Given the description of an element on the screen output the (x, y) to click on. 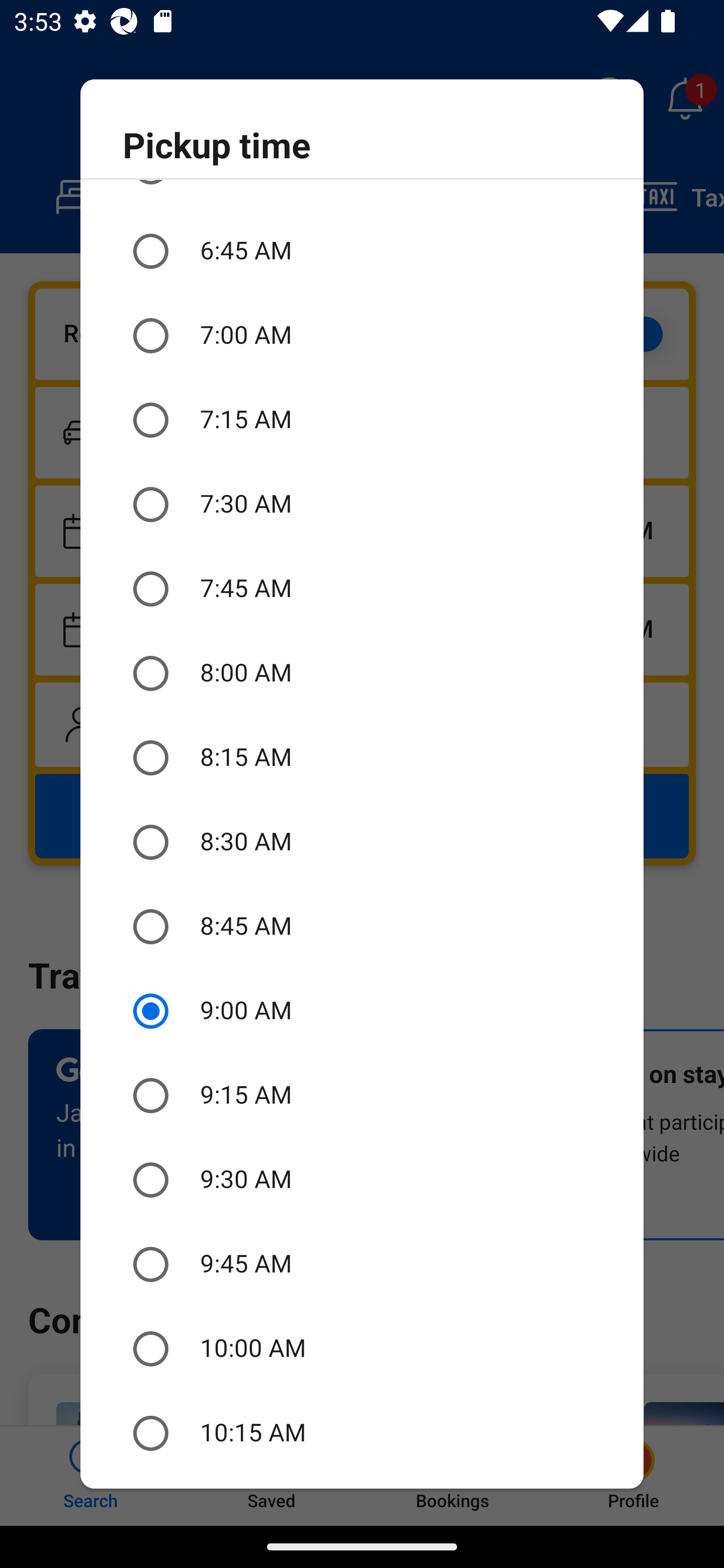
6:45 AM (361, 250)
7:00 AM (361, 335)
7:15 AM (361, 419)
7:30 AM (361, 504)
7:45 AM (361, 589)
8:00 AM (361, 673)
8:15 AM (361, 757)
8:30 AM (361, 841)
8:45 AM (361, 926)
9:00 AM (361, 1011)
9:15 AM (361, 1095)
9:30 AM (361, 1179)
9:45 AM (361, 1263)
10:00 AM (361, 1348)
10:15 AM (361, 1432)
